Given the description of an element on the screen output the (x, y) to click on. 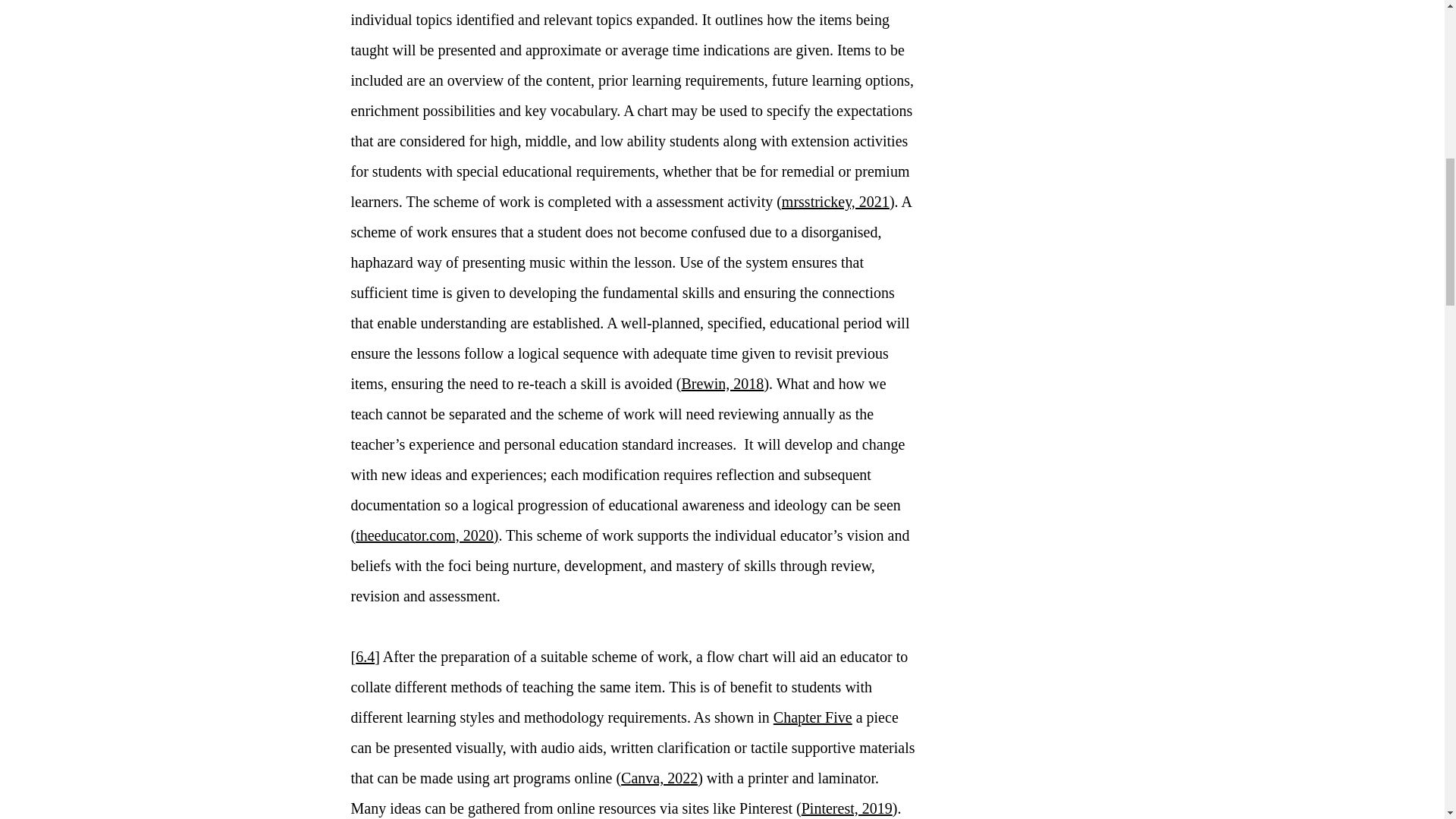
Canva, 2022 (659, 777)
Brewin, 2018 (721, 383)
6.4 (364, 656)
Pinterest, 2019 (847, 808)
Chapter Five (812, 717)
mrsstrickey, 2021 (835, 201)
